Given the description of an element on the screen output the (x, y) to click on. 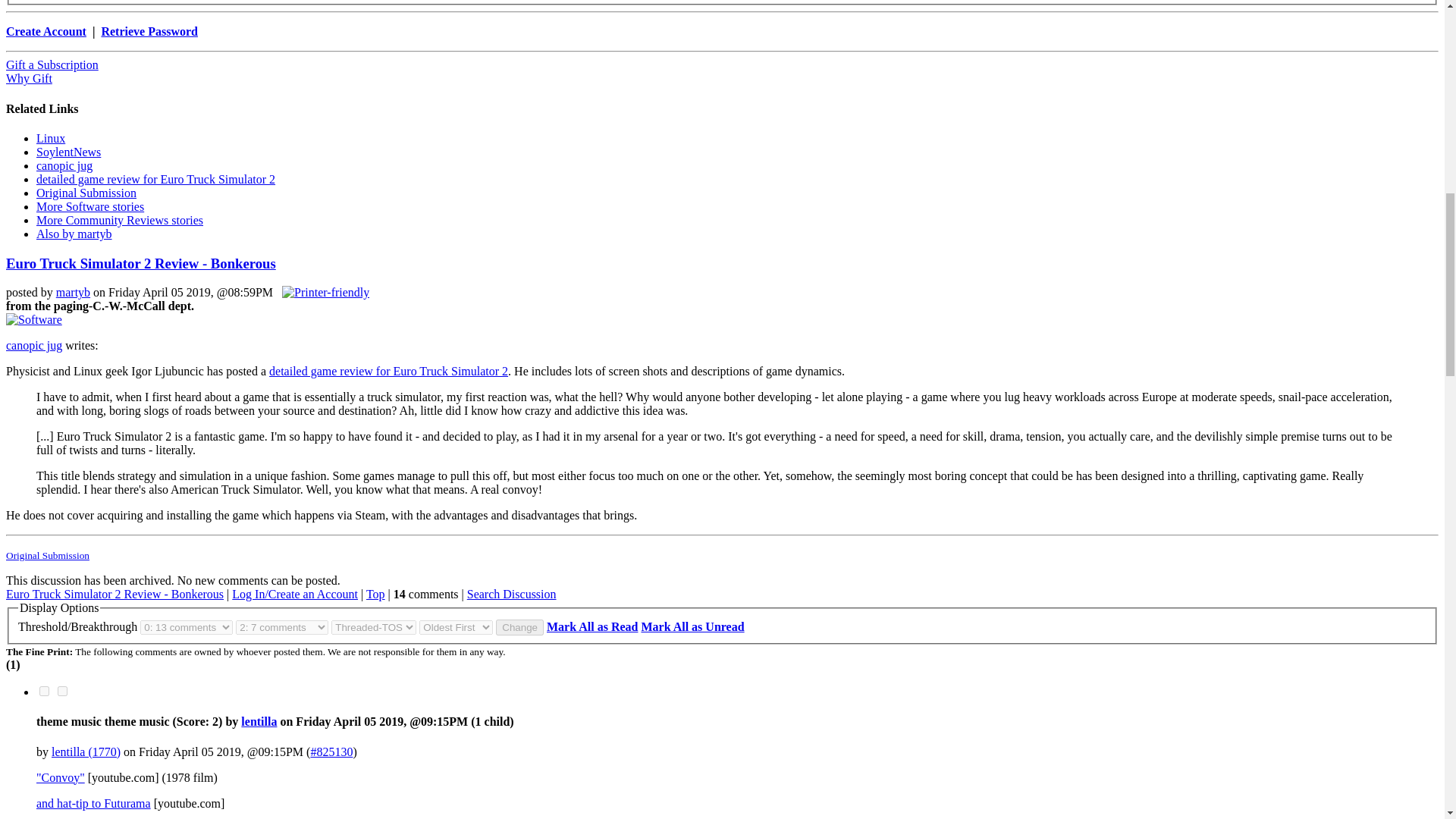
youtube.com (93, 802)
Gift a Subscription (52, 64)
youtube.com (60, 776)
Retrieve Password (149, 31)
Software (33, 319)
Change (519, 627)
Create Account (45, 31)
on (44, 691)
on (62, 691)
